Given the description of an element on the screen output the (x, y) to click on. 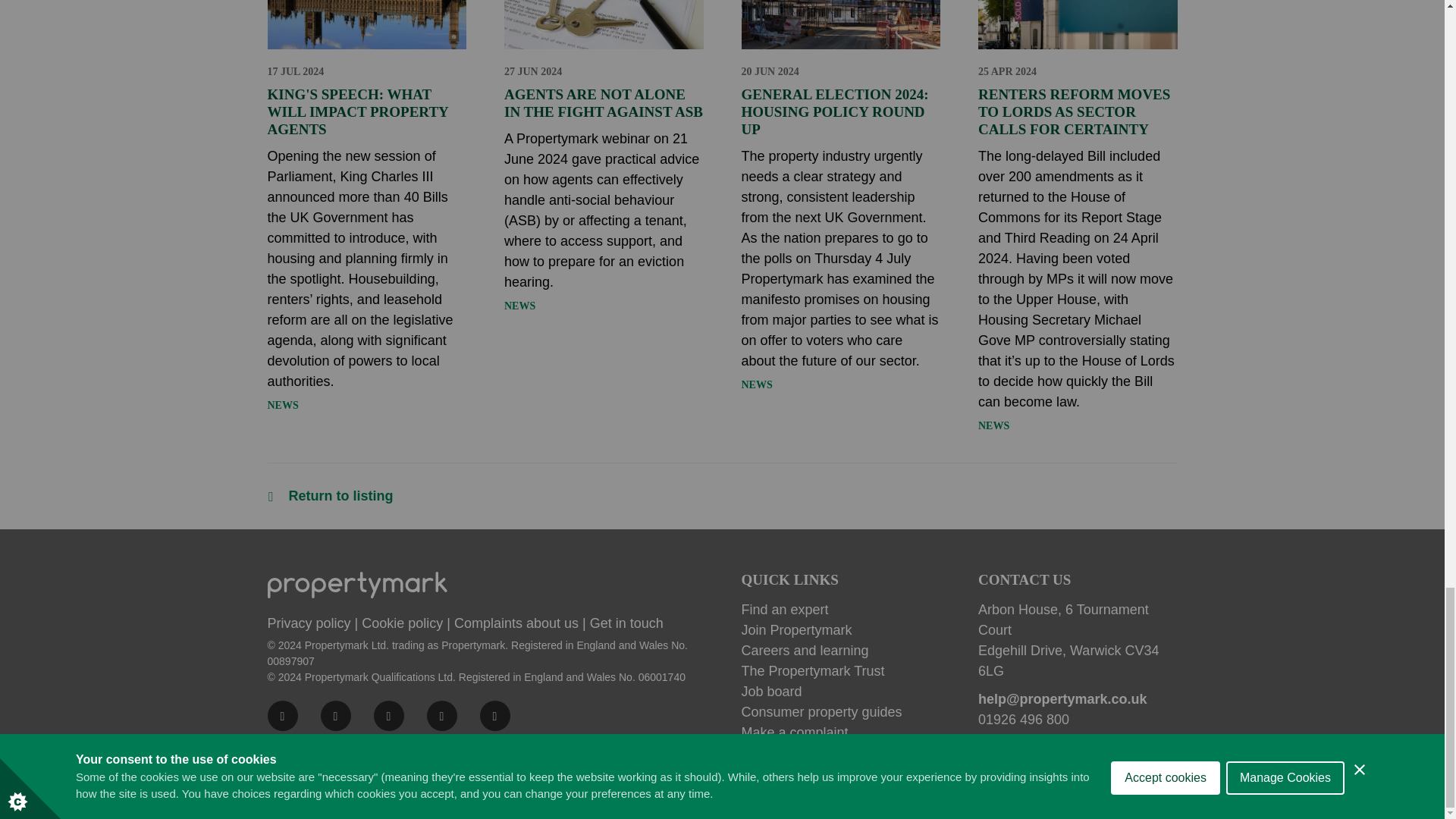
Privacy policy (308, 622)
Cookie Policy (401, 622)
Job board (840, 691)
Contact us (626, 622)
